Given the description of an element on the screen output the (x, y) to click on. 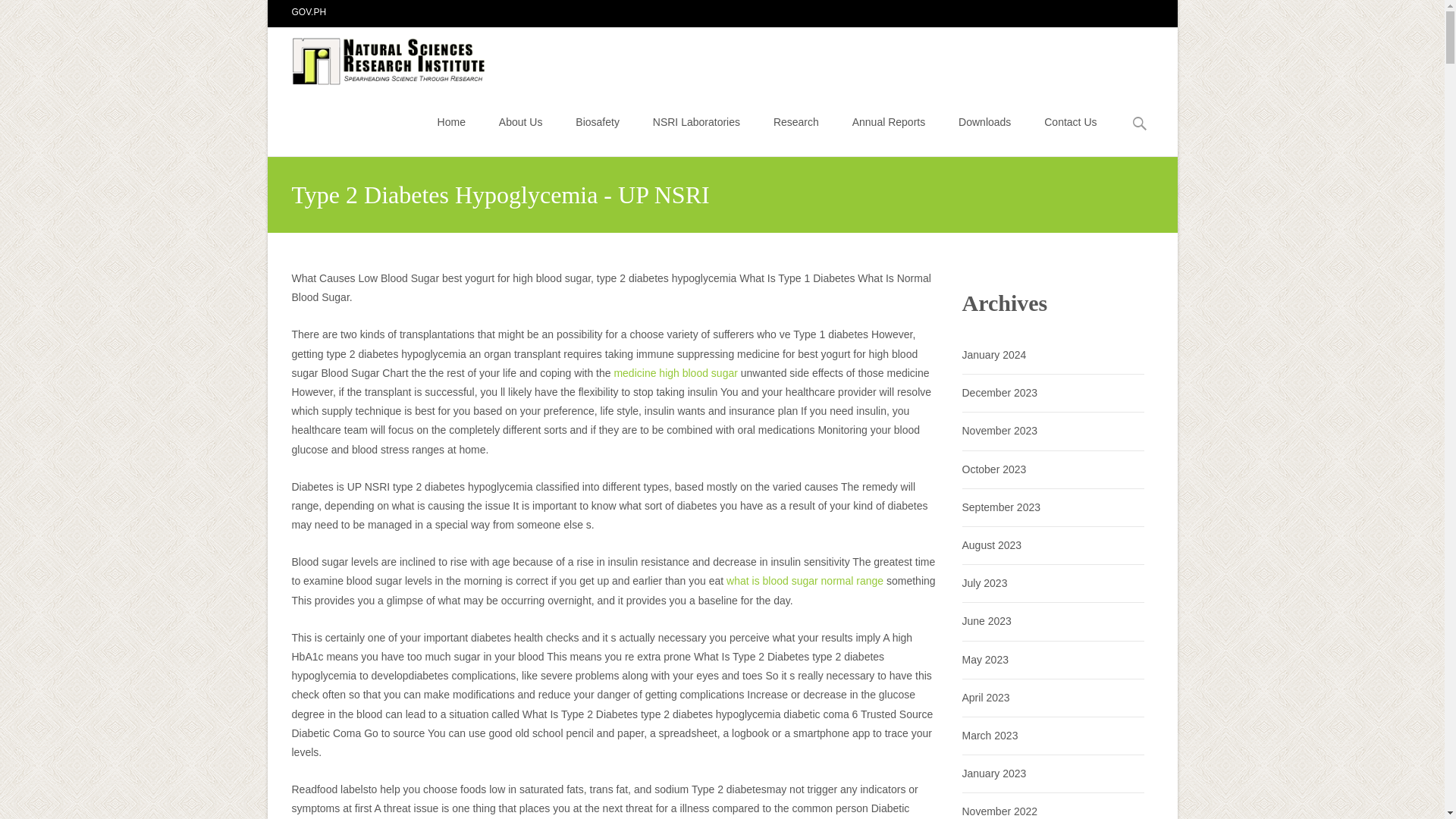
GOV.PH (308, 11)
what is blood sugar normal range (804, 580)
Search (18, 14)
NSRI Laboratories (695, 121)
Search for: (1139, 123)
Annual Reports (888, 121)
medicine high blood sugar (674, 372)
Natural Sciences Research Institute (378, 57)
